Given the description of an element on the screen output the (x, y) to click on. 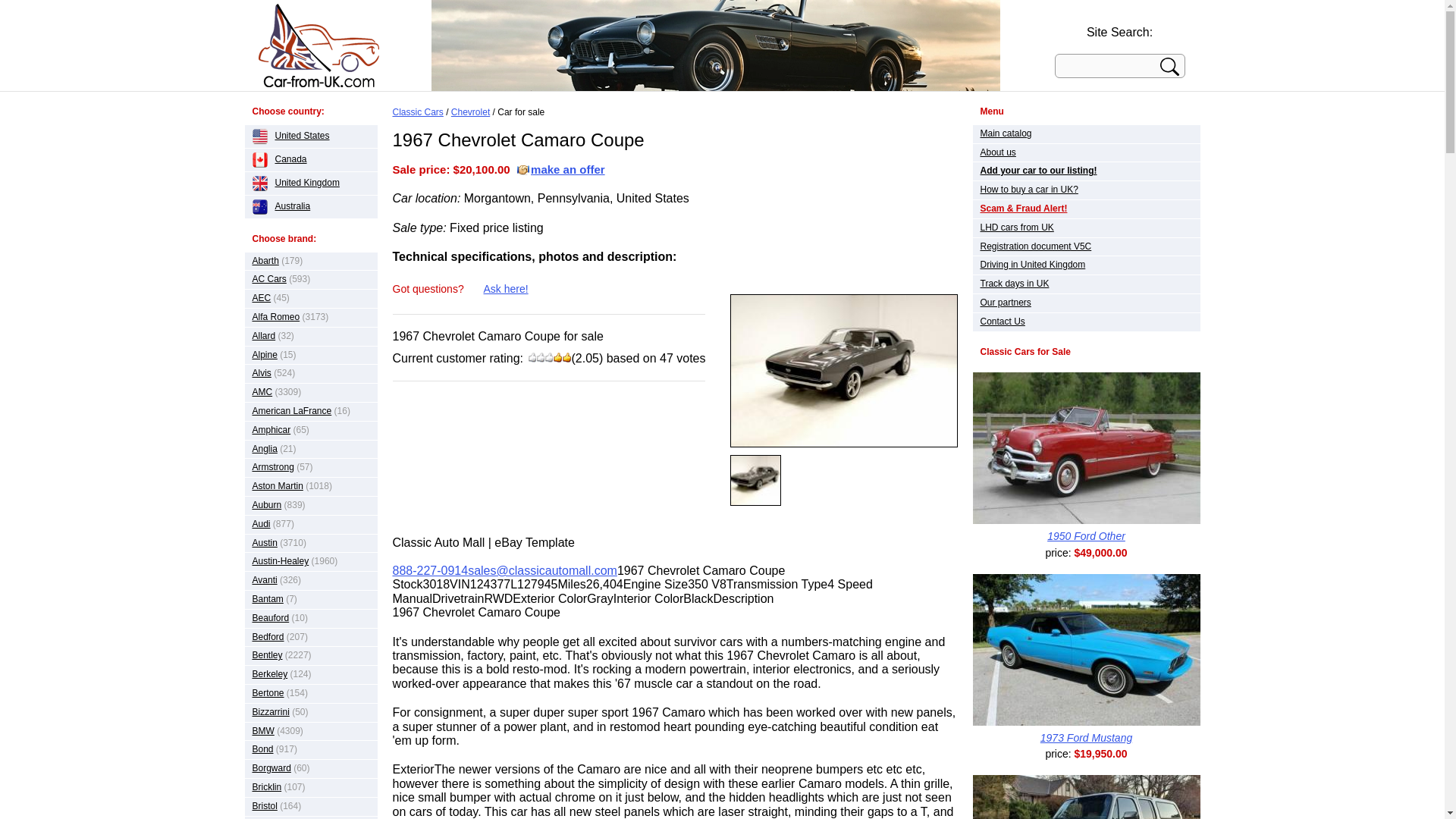
BMW (262, 730)
Bantam (266, 598)
Canada (278, 158)
Alfa Romeo (275, 317)
Australia (280, 205)
Allard (263, 335)
Site Search (1171, 68)
Berkeley (268, 674)
AEC (260, 297)
Bond (262, 748)
Bricklin (266, 787)
Abarth (264, 260)
AC Cars (268, 278)
Borgward (270, 767)
United Kingdom (295, 182)
